Given the description of an element on the screen output the (x, y) to click on. 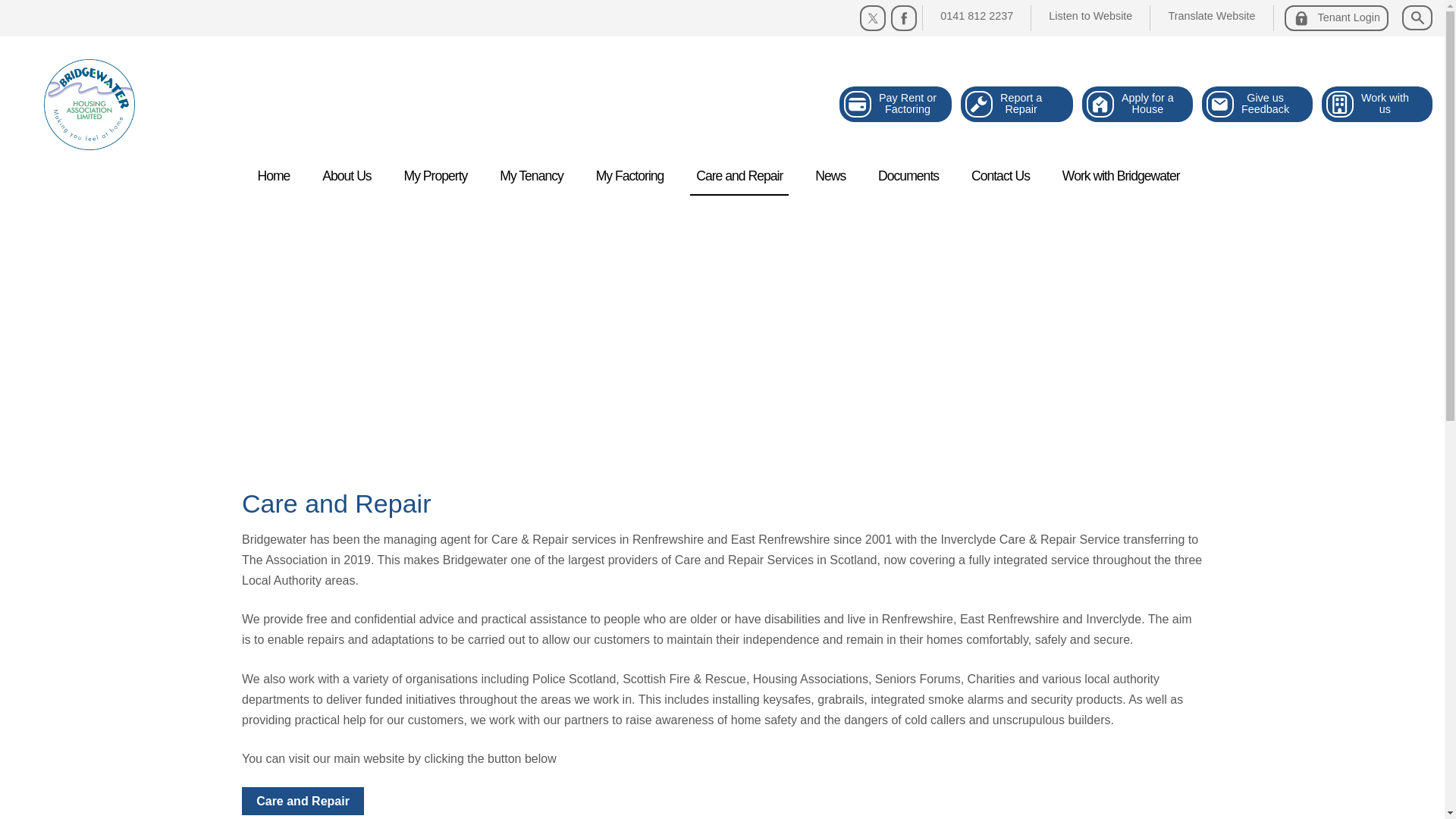
Tenant Login (1377, 104)
Listen to Website (896, 104)
Search (1257, 104)
Translate Website (1336, 17)
Home (1136, 104)
